Given the description of an element on the screen output the (x, y) to click on. 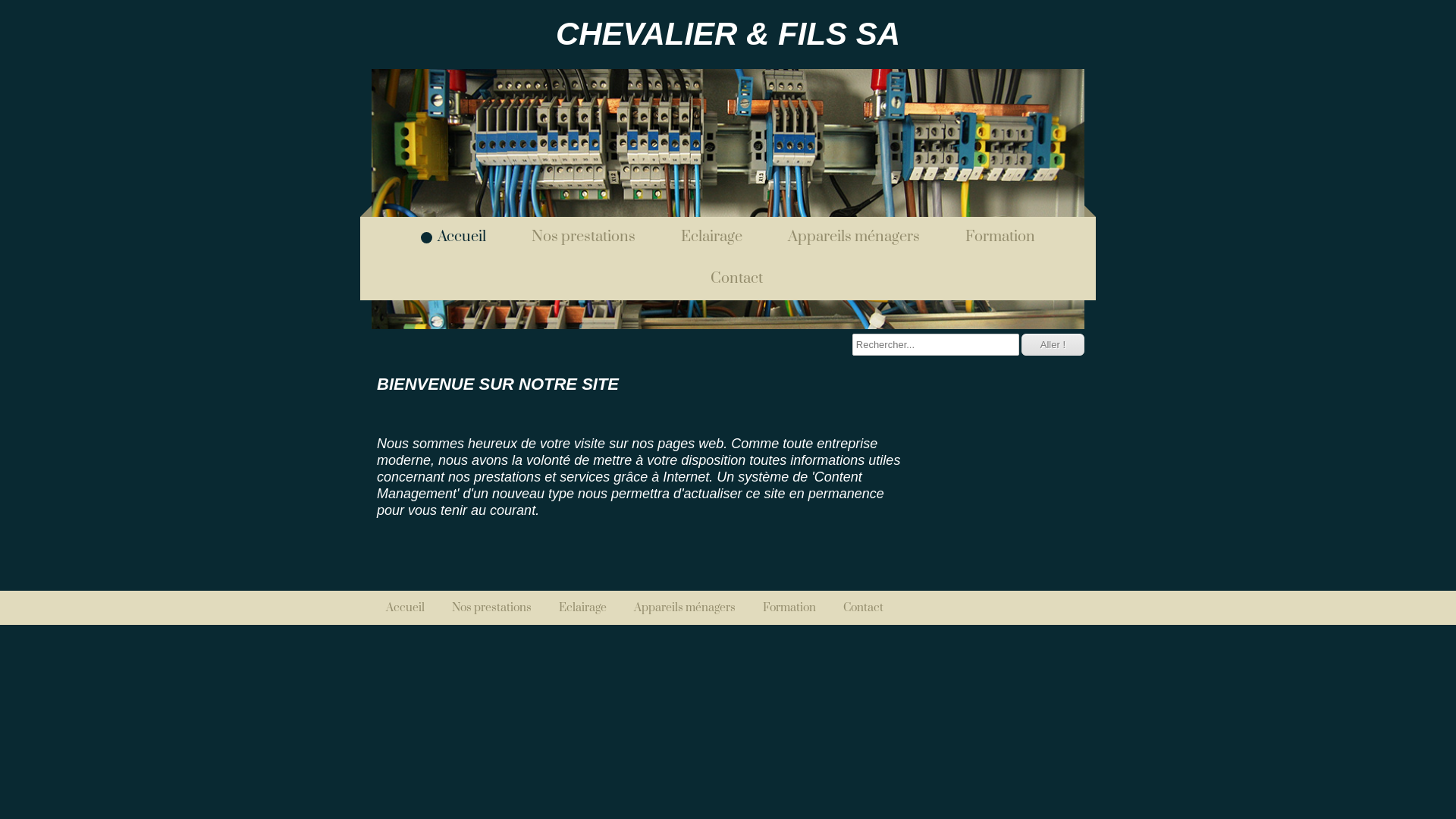
Accueil Element type: text (396, 607)
Nos prestations Element type: text (575, 237)
Nos prestations Element type: text (483, 607)
Contact Element type: text (854, 607)
Formation Element type: text (780, 607)
Eclairage Element type: text (702, 237)
Accueil Element type: text (453, 237)
Eclairage Element type: text (574, 607)
CHEVALIER & FILS SA Element type: text (728, 34)
Formation Element type: text (991, 237)
Contact Element type: text (727, 278)
